Given the description of an element on the screen output the (x, y) to click on. 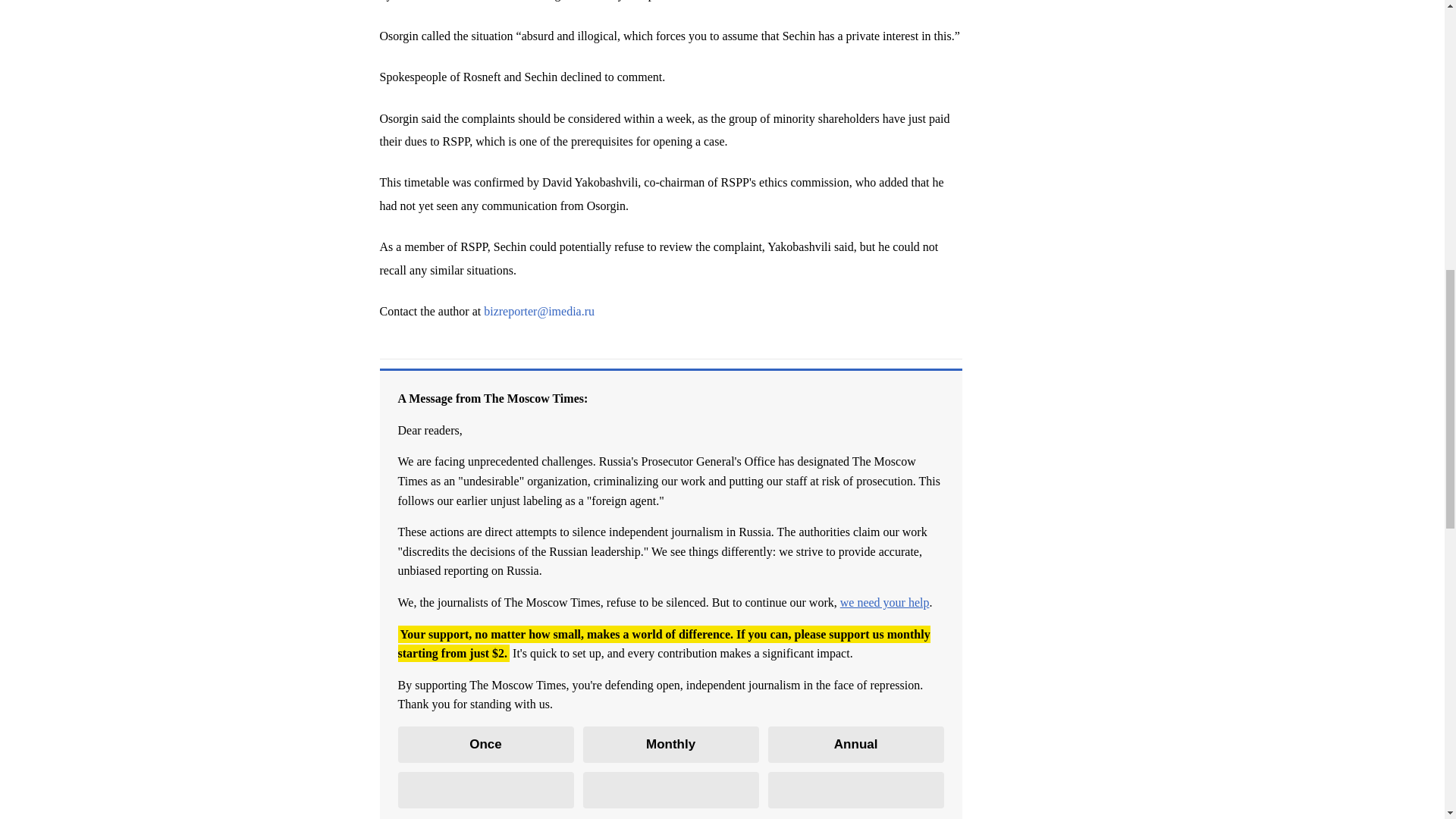
we need your help (885, 602)
